Given the description of an element on the screen output the (x, y) to click on. 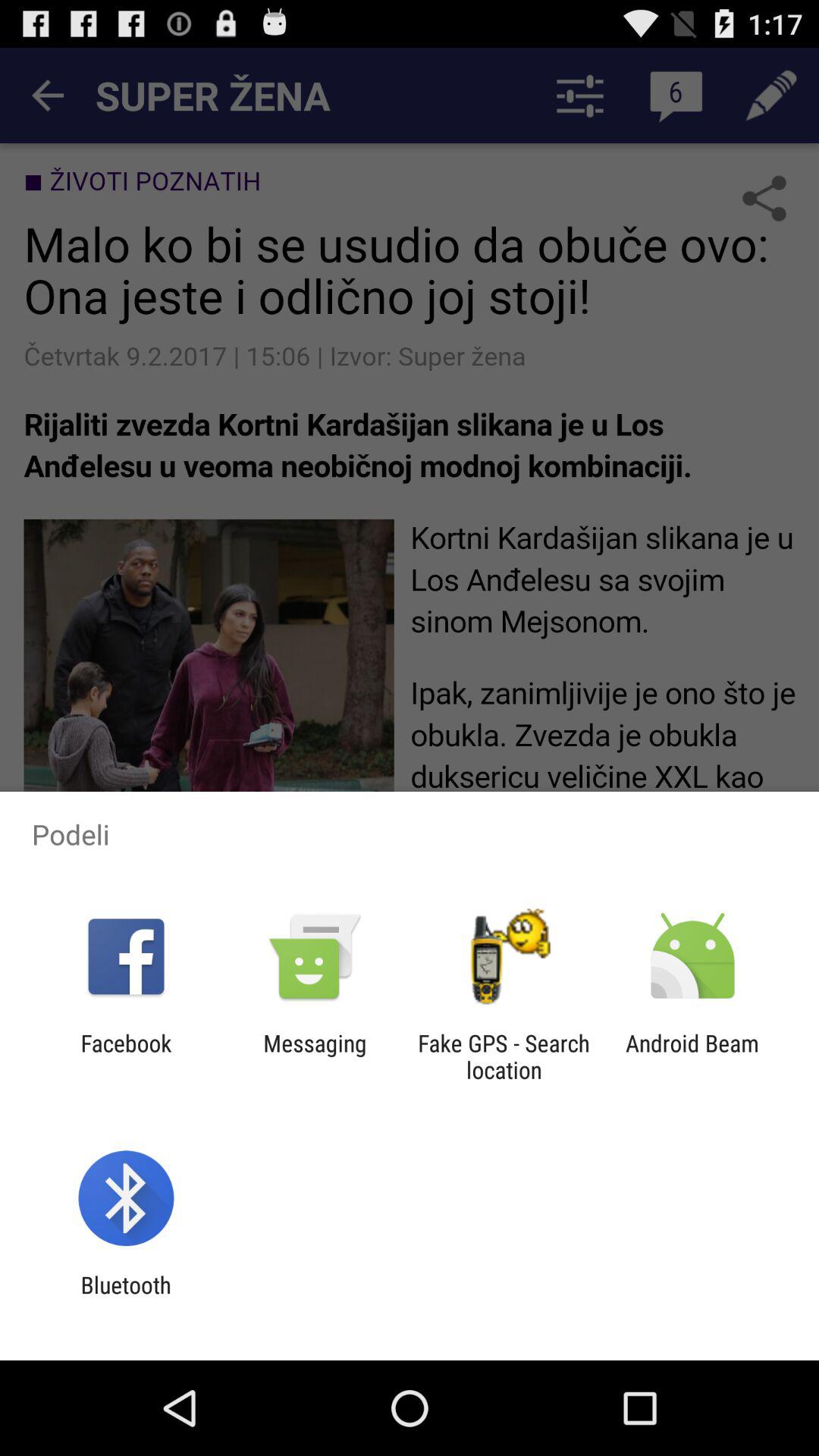
launch app next to the messaging app (503, 1056)
